Given the description of an element on the screen output the (x, y) to click on. 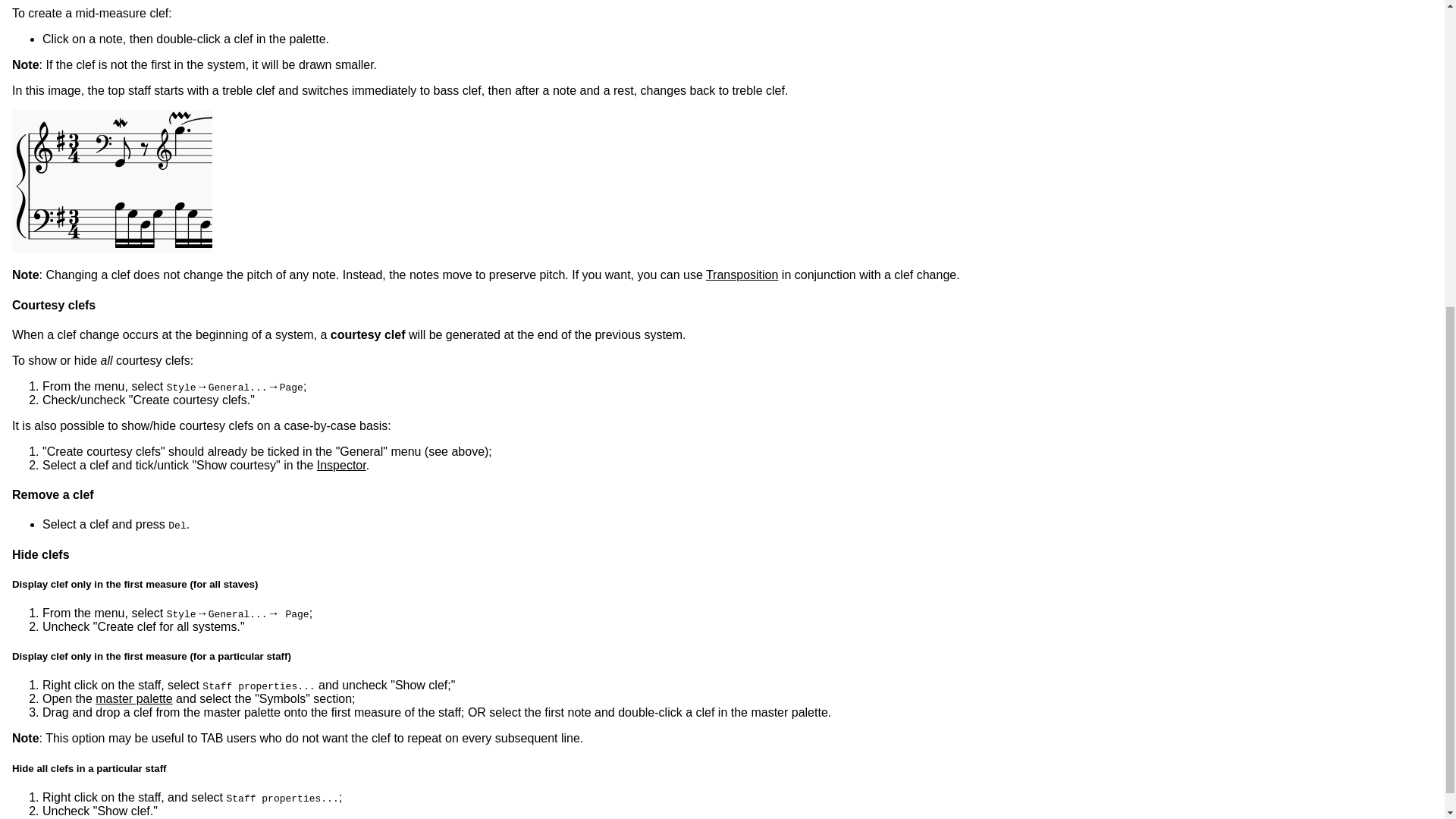
Inspector (341, 464)
Transposition (741, 274)
Mid-measure clef changes (111, 181)
master palette (133, 698)
